Given the description of an element on the screen output the (x, y) to click on. 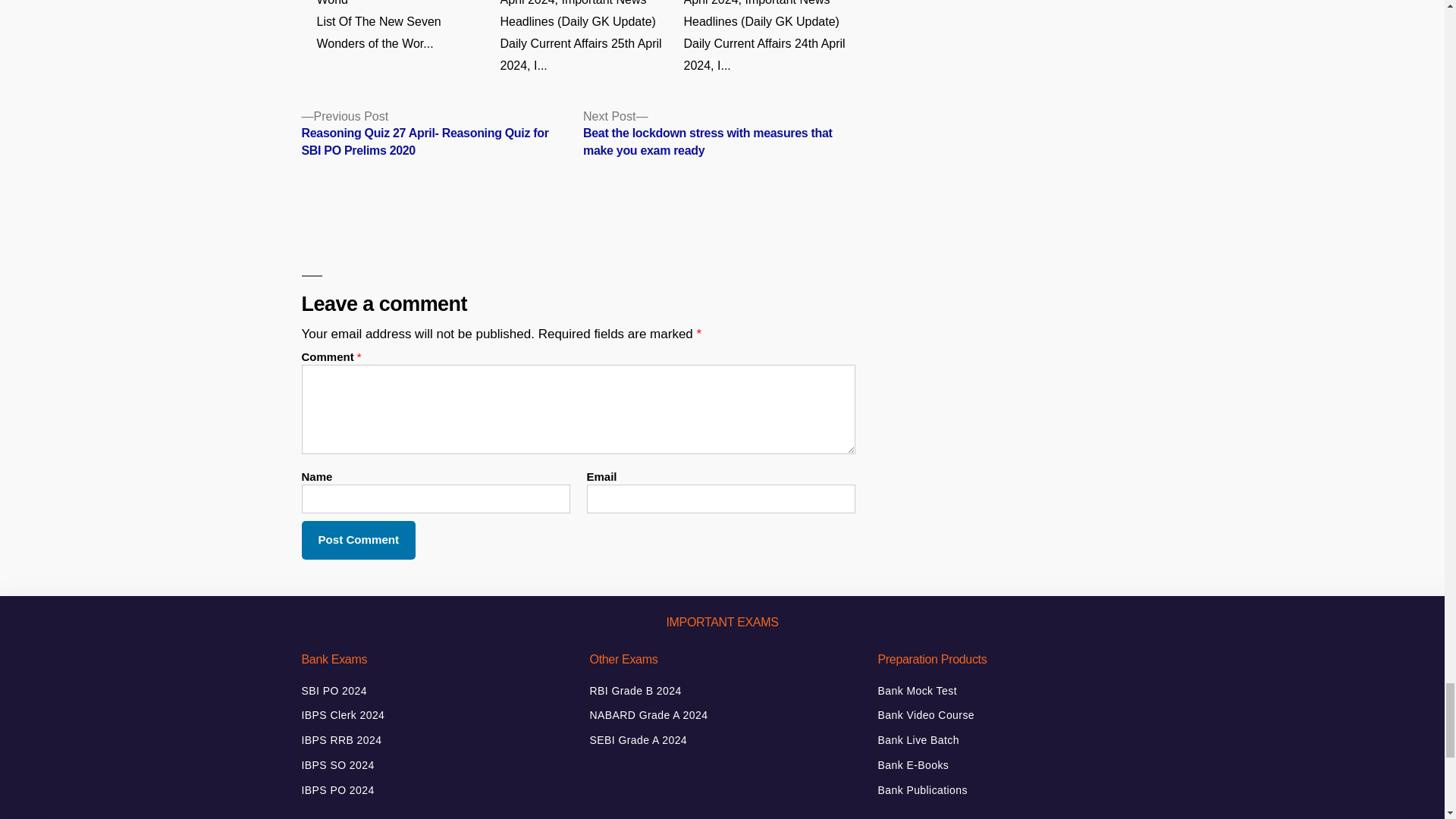
List Of The New Seven Wonders of the World (402, 27)
Post Comment (358, 540)
